Given the description of an element on the screen output the (x, y) to click on. 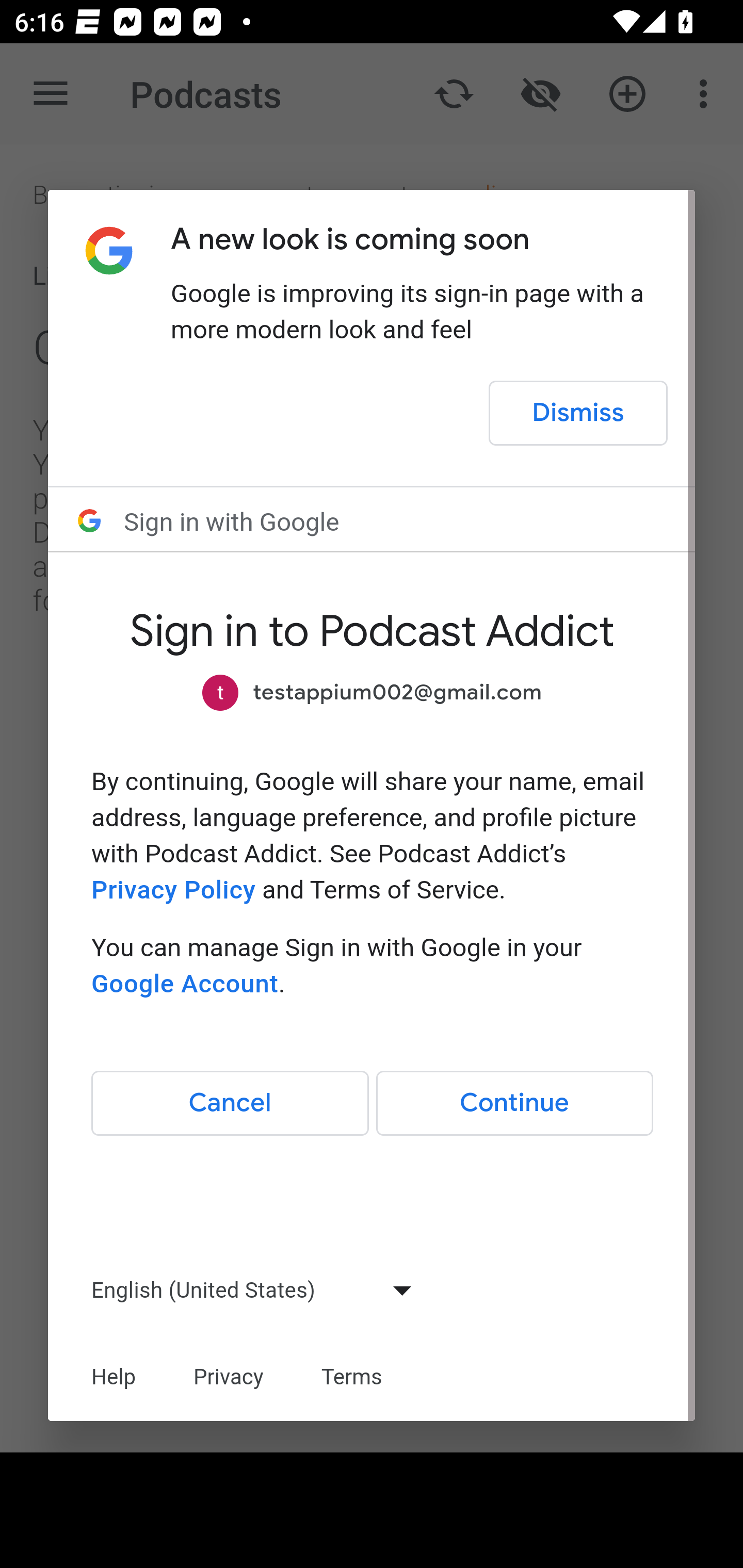
Dismiss (578, 413)
Privacy Policy (172, 890)
Google Account (183, 984)
Cancel (230, 1103)
Continue (514, 1103)
Help (113, 1377)
Privacy (228, 1377)
Terms (352, 1377)
